Given the description of an element on the screen output the (x, y) to click on. 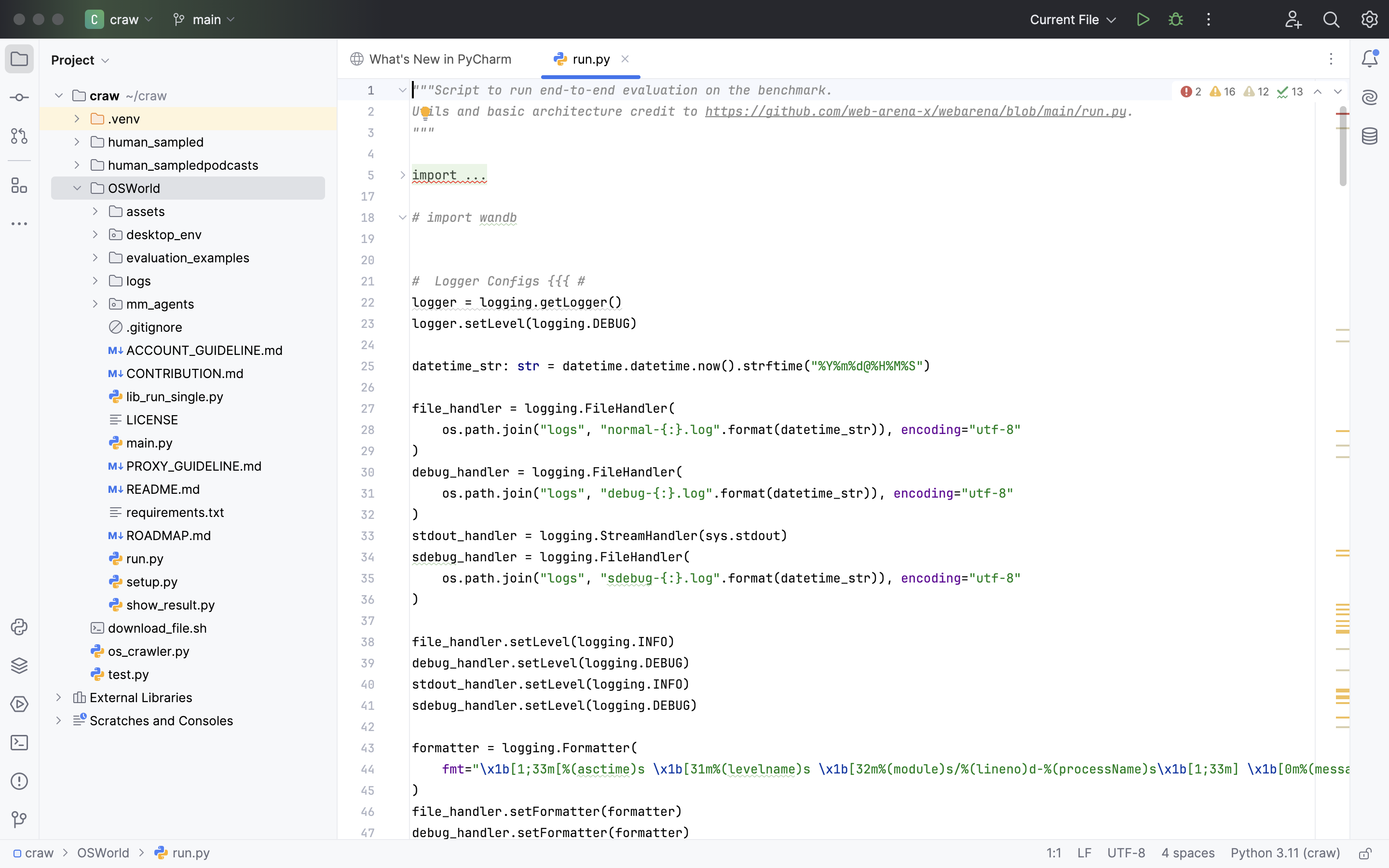
download_file.sh Element type: AXStaticText (148, 627)
assets Element type: AXStaticText (137, 210)
test.py Element type: AXStaticText (119, 673)
